Given the description of an element on the screen output the (x, y) to click on. 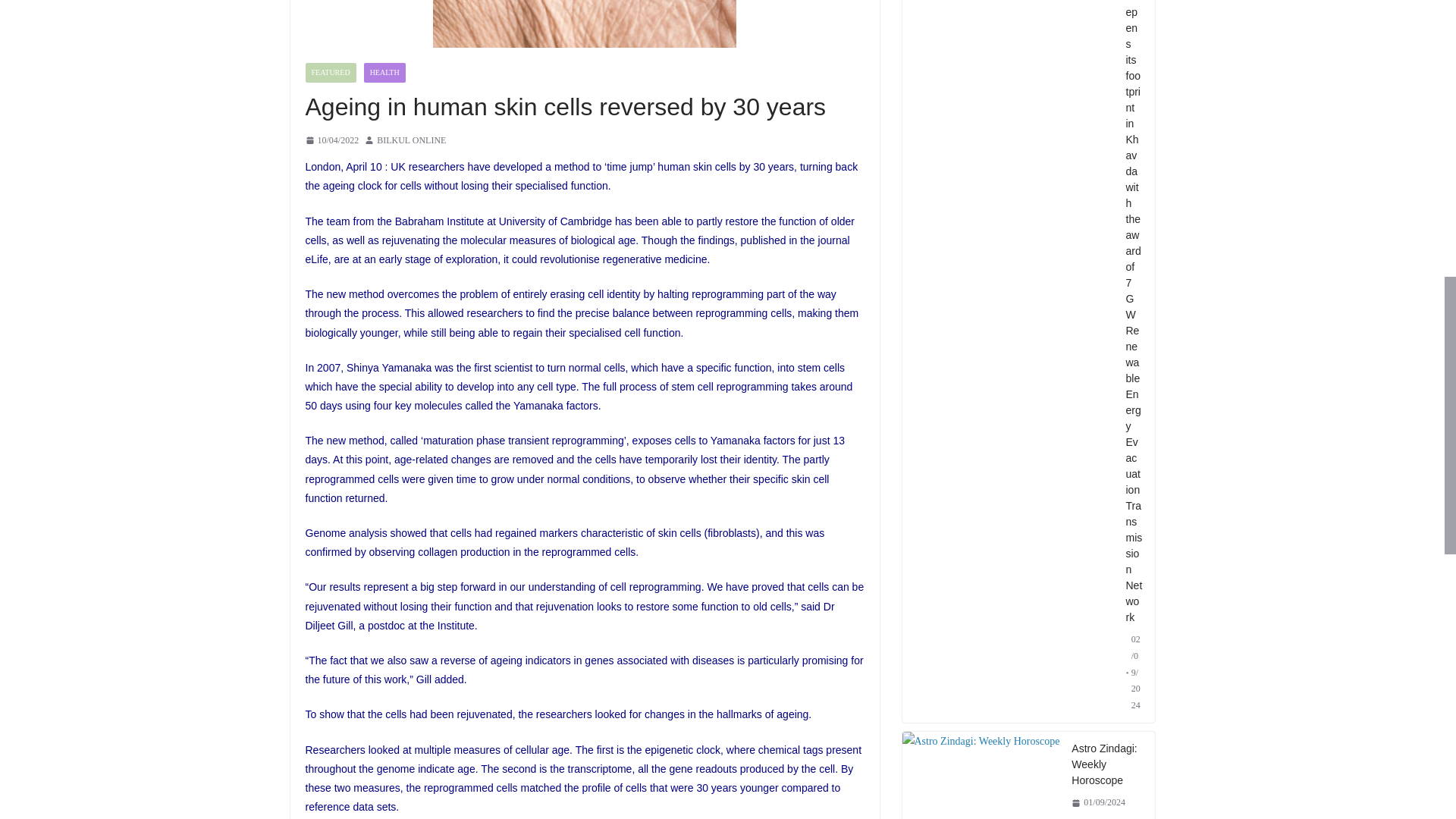
BILKUL ONLINE (411, 140)
BILKUL ONLINE (411, 140)
FEATURED (329, 72)
HEALTH (385, 72)
10:13 pm (331, 140)
